Given the description of an element on the screen output the (x, y) to click on. 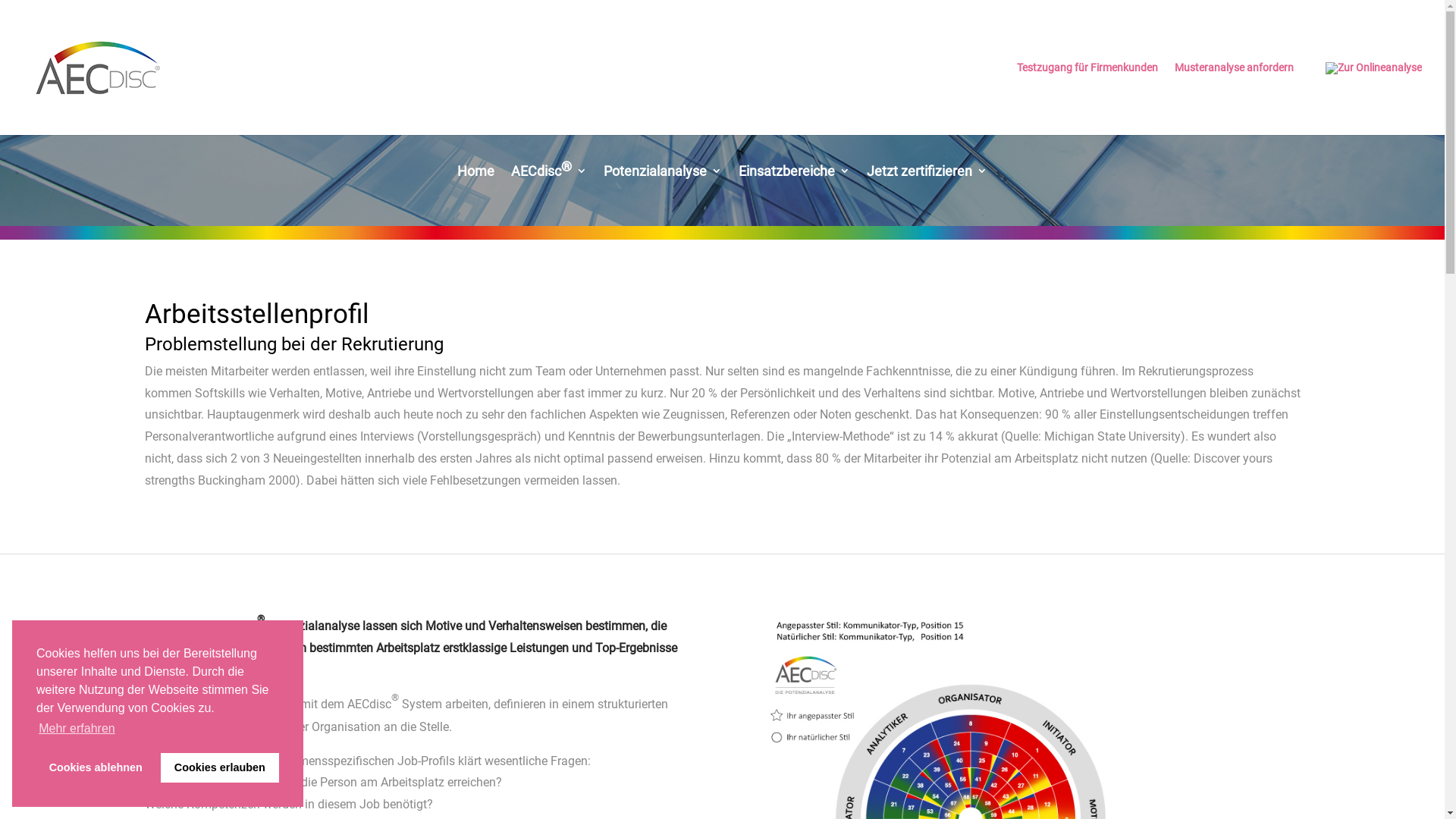
Musteranalyse anfordern Element type: text (1233, 98)
Home Element type: text (475, 181)
Einsatzbereiche Element type: text (794, 181)
Mehr erfahren Element type: text (76, 728)
Cookies erlauben Element type: text (219, 767)
Potenzialanalyse Element type: text (662, 181)
Cookies ablehnen Element type: text (95, 767)
Jetzt zertifizieren Element type: text (926, 181)
